Given the description of an element on the screen output the (x, y) to click on. 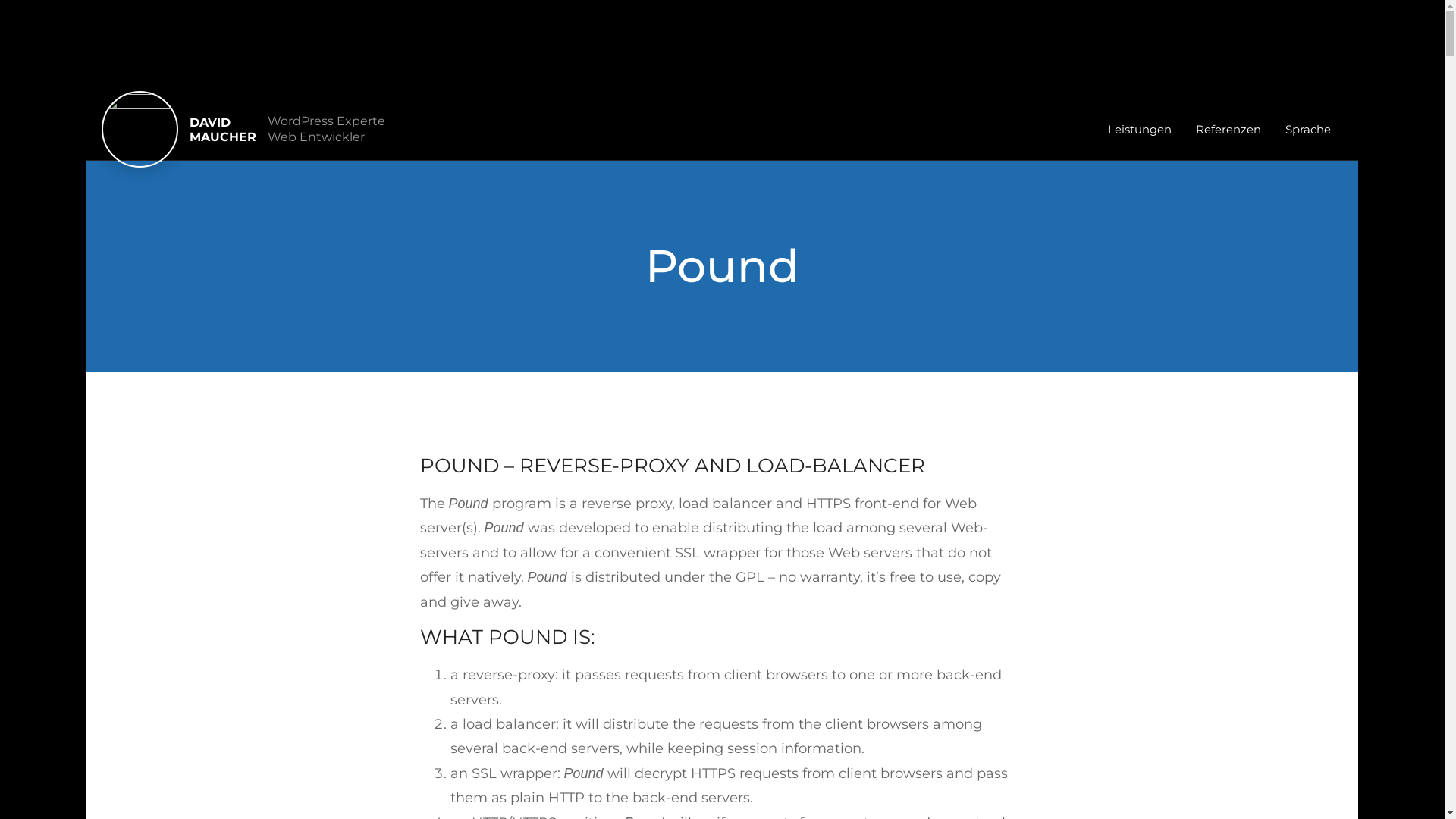
WordPress Experte
Web Entwickler Element type: text (326, 128)
Leistungen Element type: text (1139, 129)
Sprache Element type: text (1308, 129)
Referenzen Element type: text (1228, 129)
DAVID
MAUCHER Element type: text (222, 129)
